Given the description of an element on the screen output the (x, y) to click on. 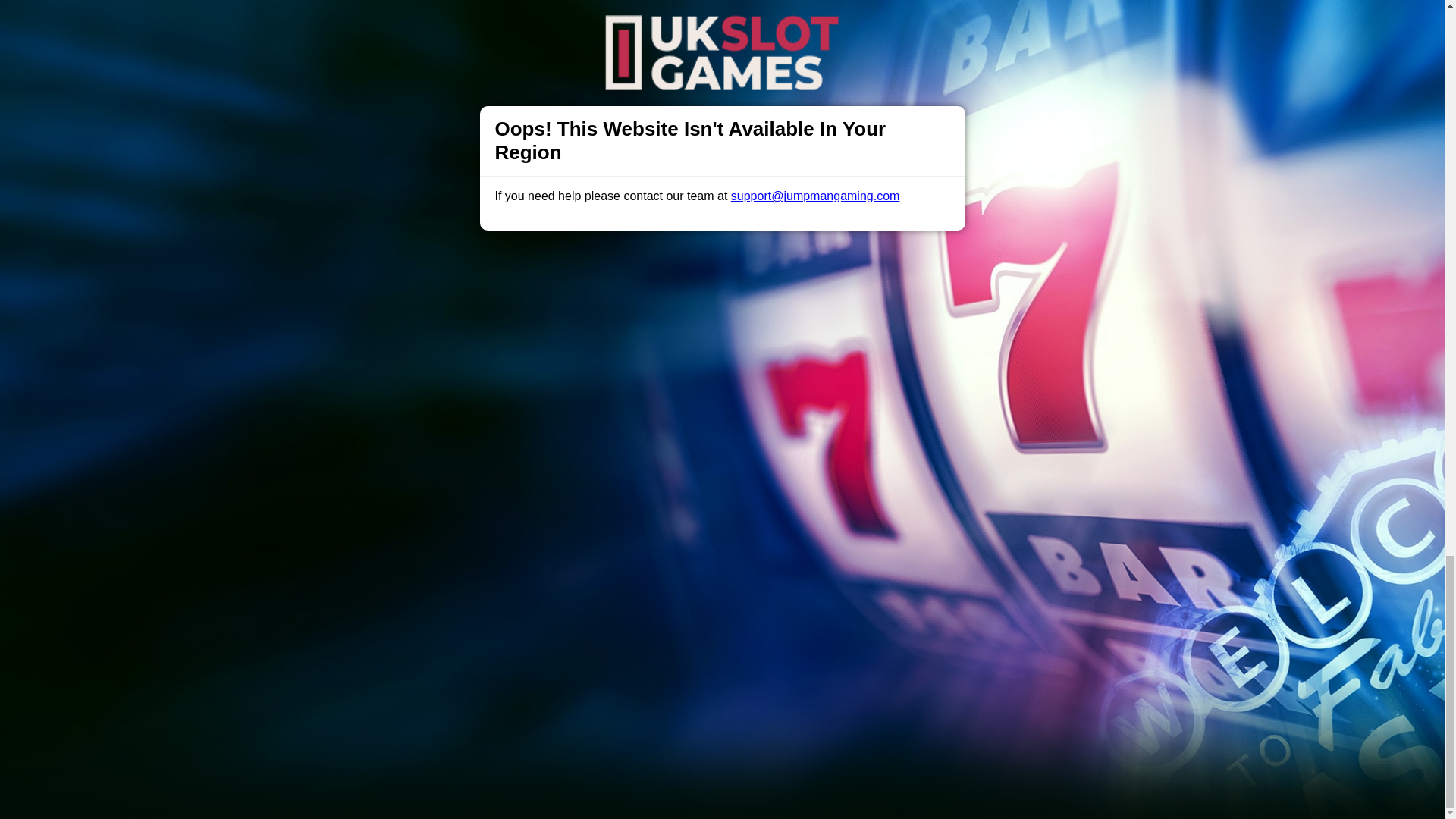
Affiliates (791, 491)
Blog (738, 491)
Thunderstruck II UK Slot (785, 250)
Help (489, 491)
Privacy Policy (671, 491)
Responsible Gaming (407, 491)
Back To All Games (722, 393)
Back To All Games (721, 393)
Lucky Leprechaun Online Slot (765, 243)
